Given the description of an element on the screen output the (x, y) to click on. 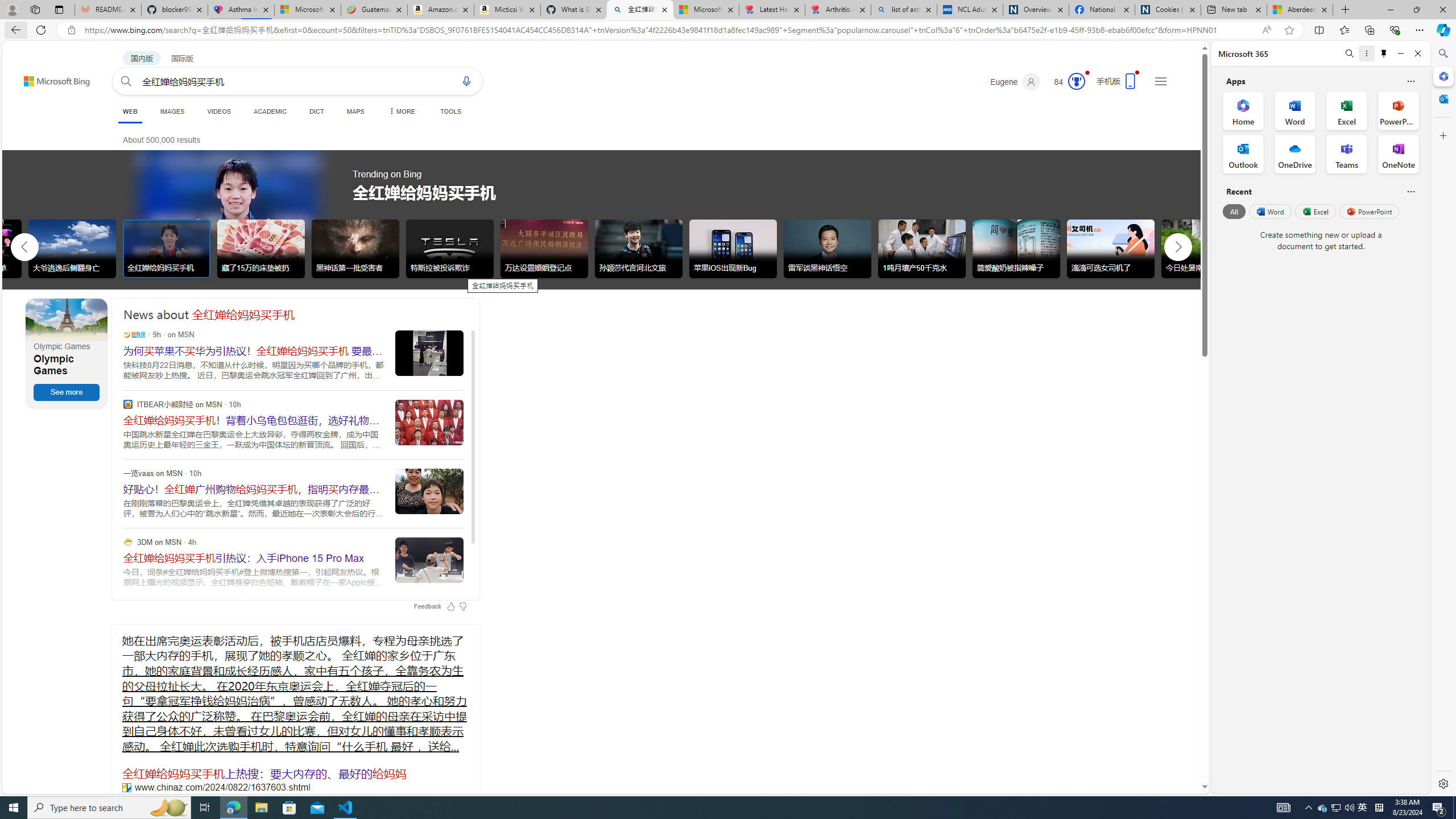
Close Outlook pane (1442, 98)
OneNote Office App (1398, 154)
Search using voice (465, 80)
PowerPoint Office App (1398, 110)
IMAGES (172, 111)
AutomationID: tob_left_arrow (24, 246)
Close Customize pane (1442, 135)
Excel (1315, 210)
